Given the description of an element on the screen output the (x, y) to click on. 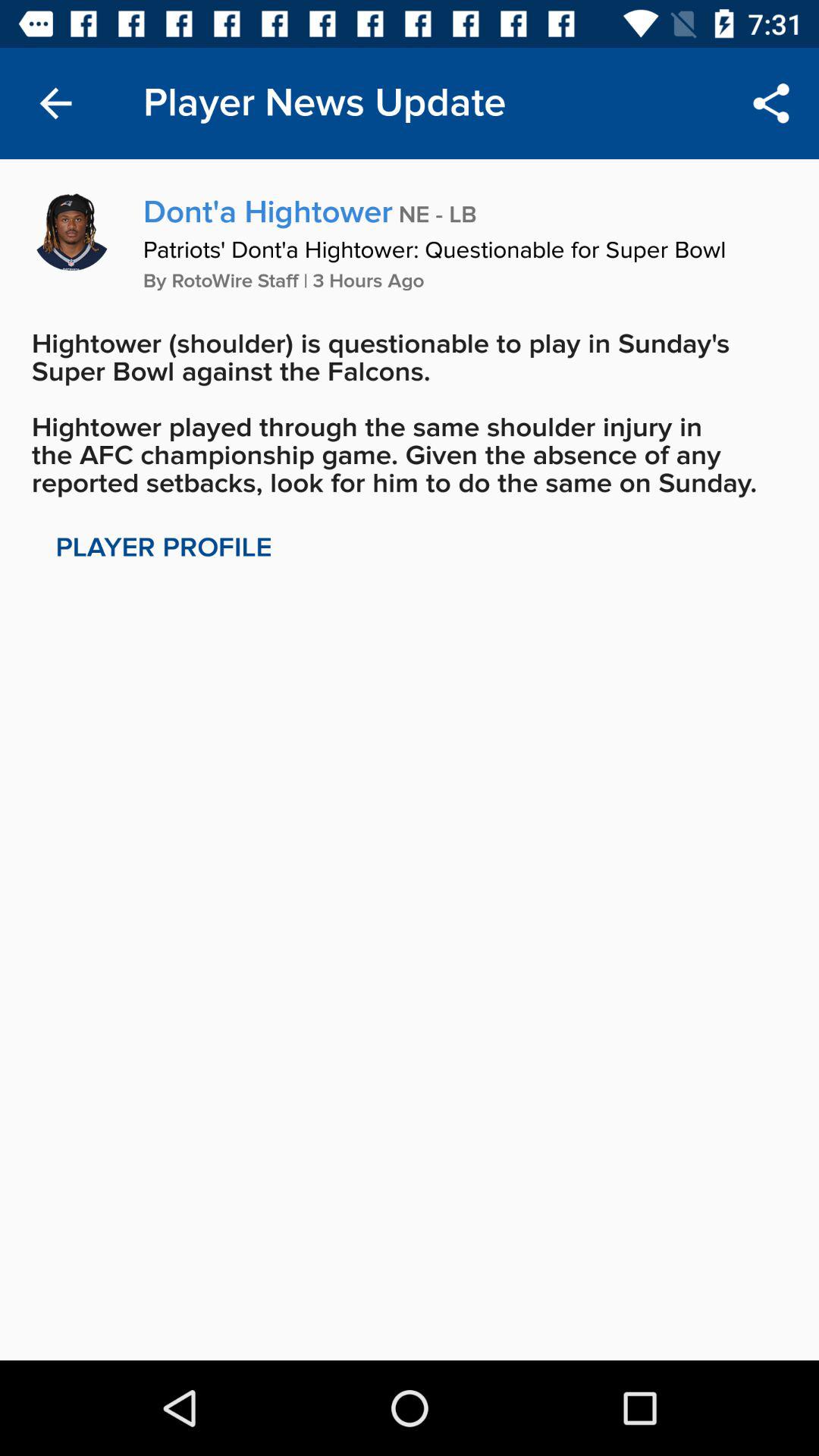
turn on the icon next to the player news update icon (771, 103)
